Given the description of an element on the screen output the (x, y) to click on. 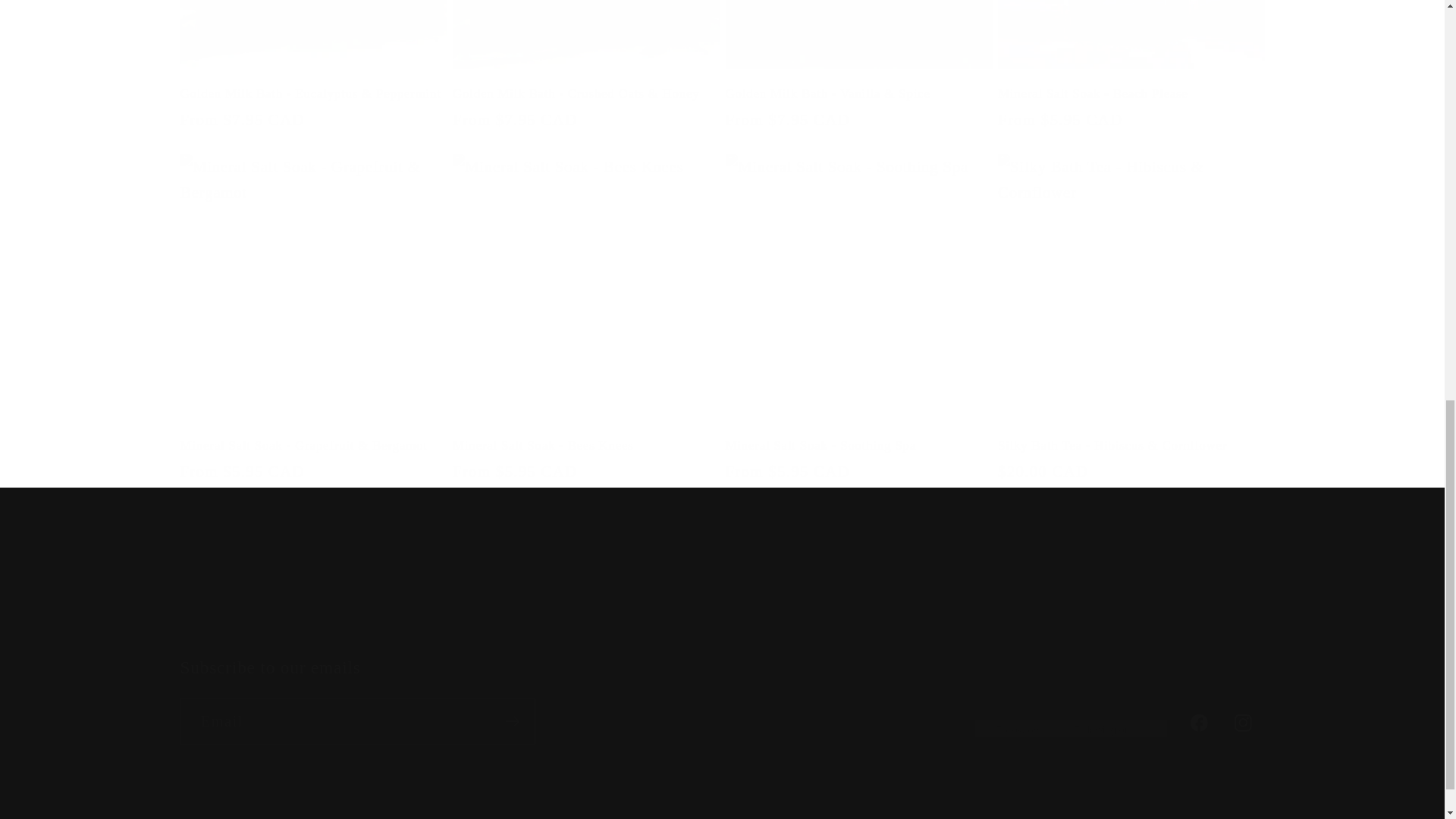
Mineral Salt Soak - Beach Please (1131, 93)
